Given the description of an element on the screen output the (x, y) to click on. 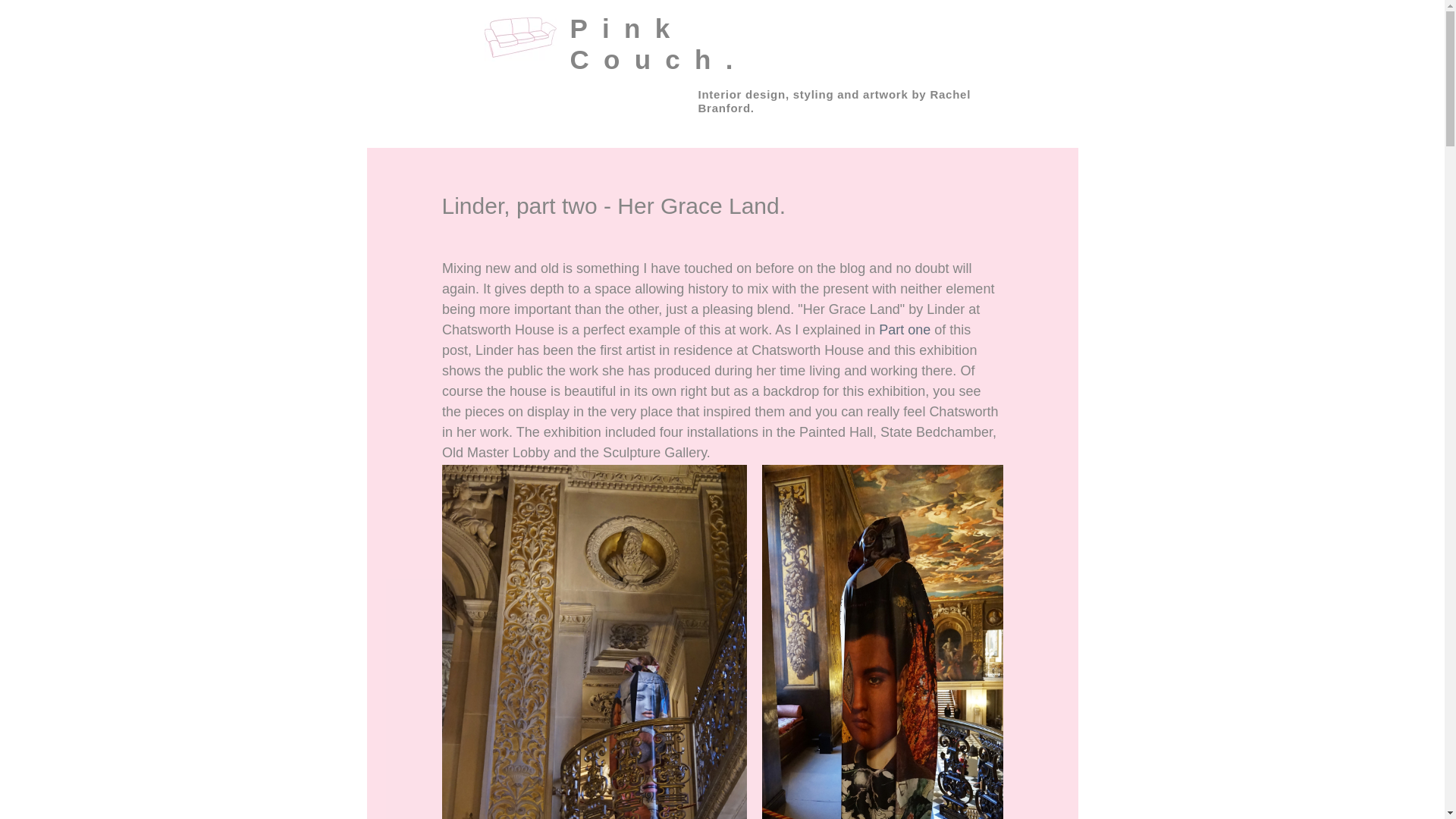
Pink Couch. (659, 43)
Par (889, 329)
Interior design, styling and artwork by Rachel Branford. (834, 100)
t one (914, 329)
